Given the description of an element on the screen output the (x, y) to click on. 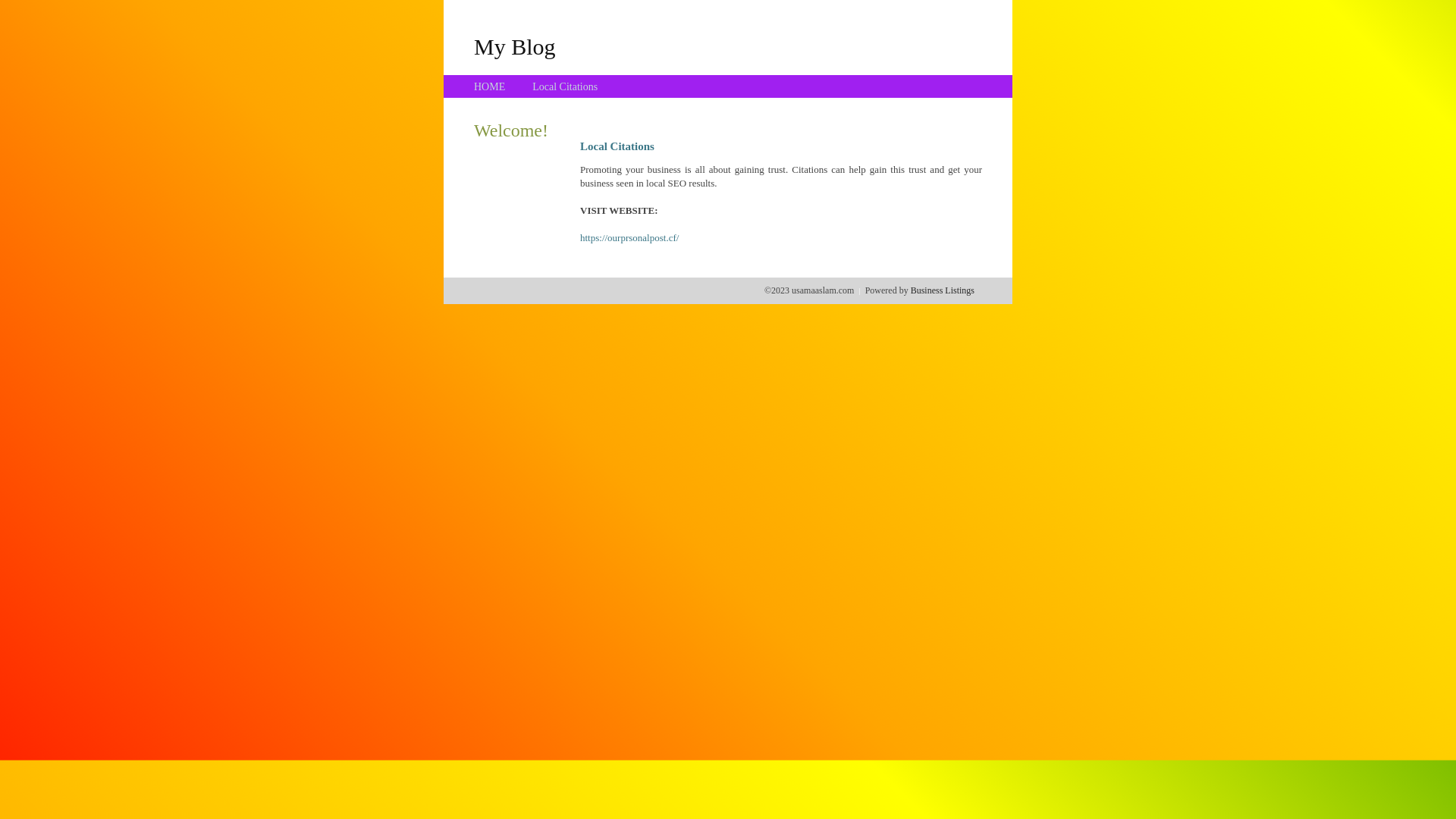
Local Citations Element type: text (564, 86)
Business Listings Element type: text (942, 290)
https://ourprsonalpost.cf/ Element type: text (629, 237)
My Blog Element type: text (514, 46)
HOME Element type: text (489, 86)
